Given the description of an element on the screen output the (x, y) to click on. 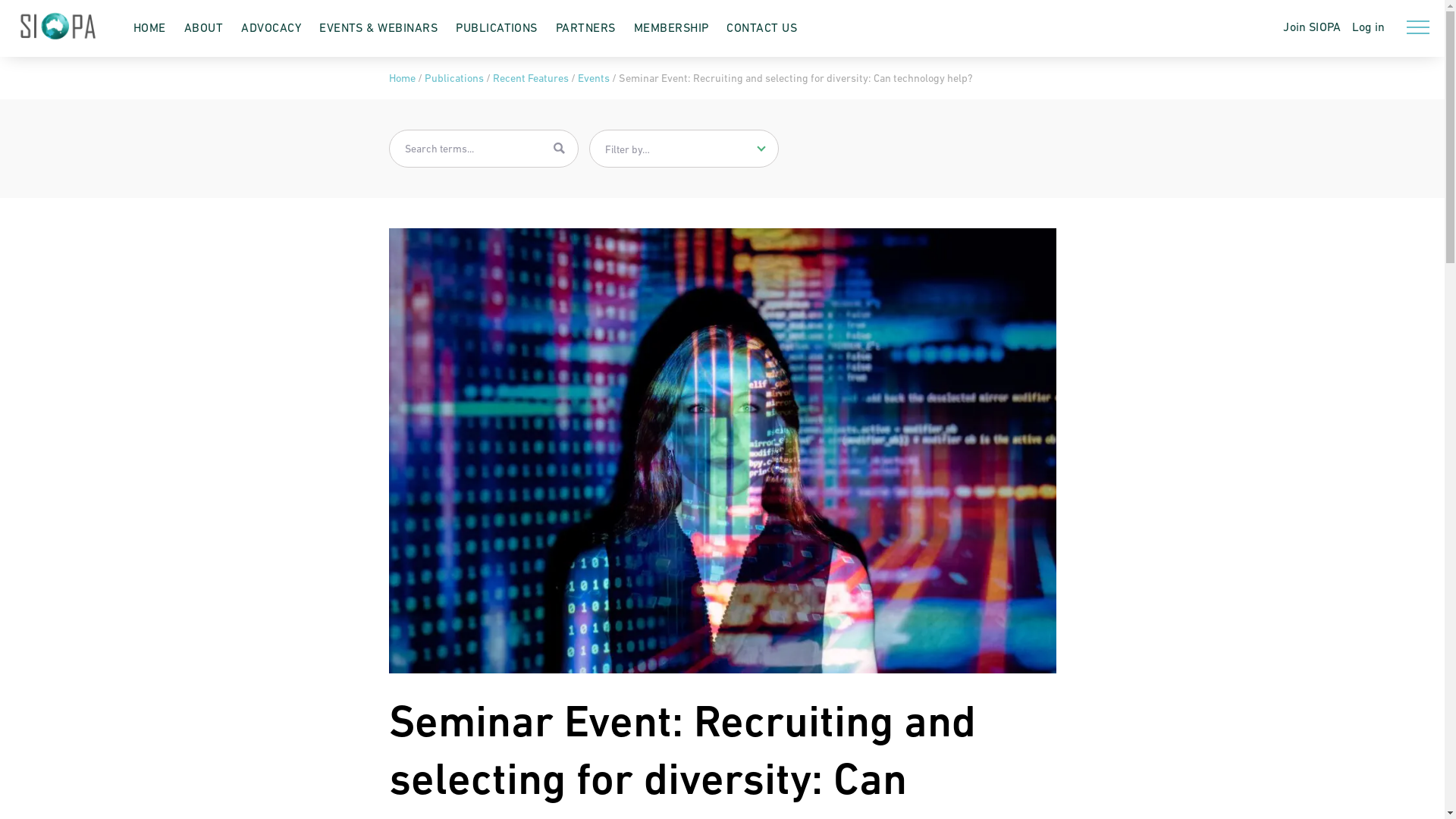
Publications Element type: text (453, 78)
Events Element type: text (593, 78)
HOME Element type: text (149, 27)
Home Element type: text (401, 78)
Recent Features Element type: text (530, 78)
MEMBERSHIP Element type: text (671, 27)
Join SIOPA Element type: text (1311, 26)
ADVOCACY Element type: text (270, 27)
PARTNERS Element type: text (585, 27)
PUBLICATIONS Element type: text (496, 27)
Search Element type: text (559, 148)
Menu Element type: text (1417, 26)
ABOUT Element type: text (203, 27)
Log in Element type: text (1362, 26)
EVENTS & WEBINARS Element type: text (378, 27)
CONTACT US Element type: text (761, 27)
